Given the description of an element on the screen output the (x, y) to click on. 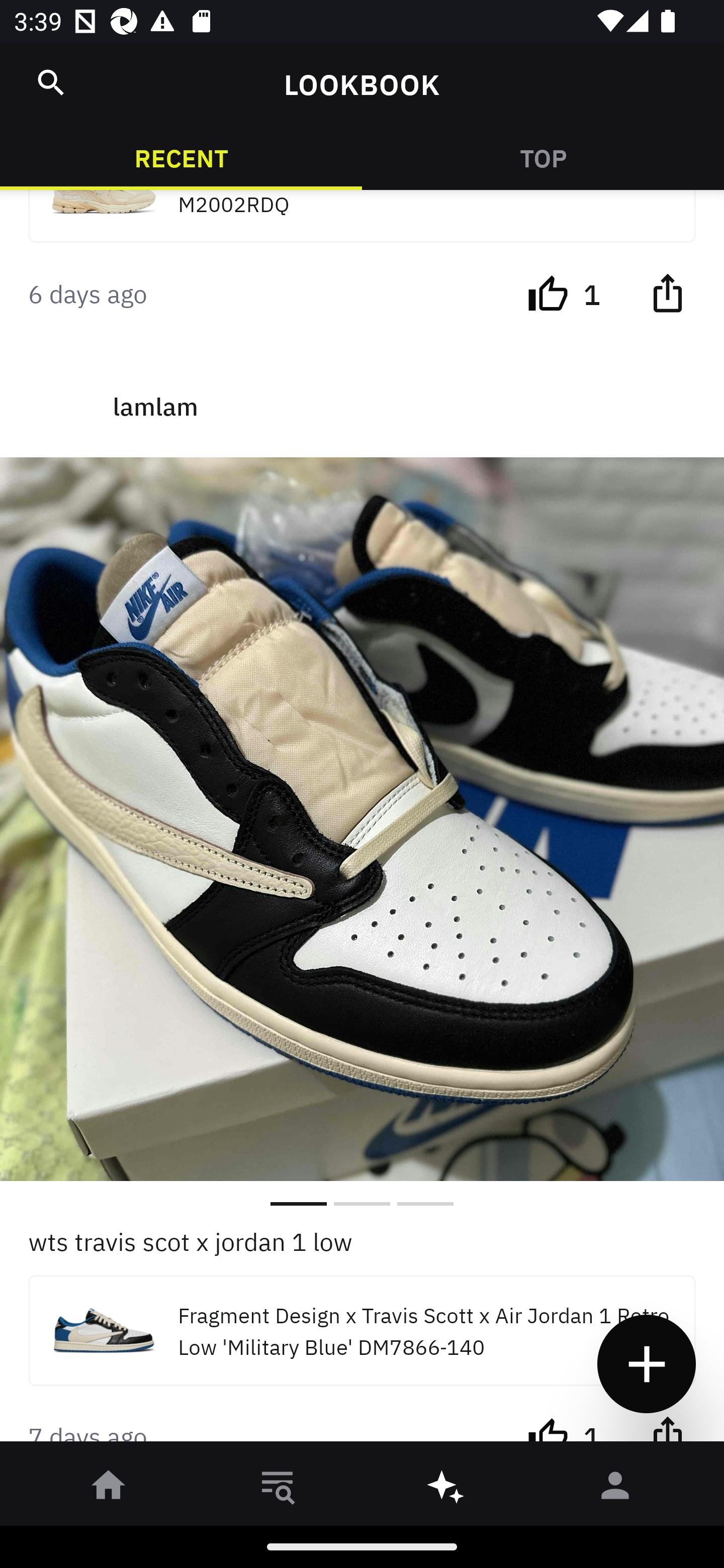
 (51, 82)
RECENT (181, 156)
TOP (543, 156)
󰔔 (547, 291)
 (667, 291)
wts travis scot x jordan 1 low (362, 1239)
󰔔 (547, 1428)
 (667, 1428)
󰋜 (108, 1488)
󱎸 (277, 1488)
󰫢 (446, 1488)
󰀄 (615, 1488)
